Given the description of an element on the screen output the (x, y) to click on. 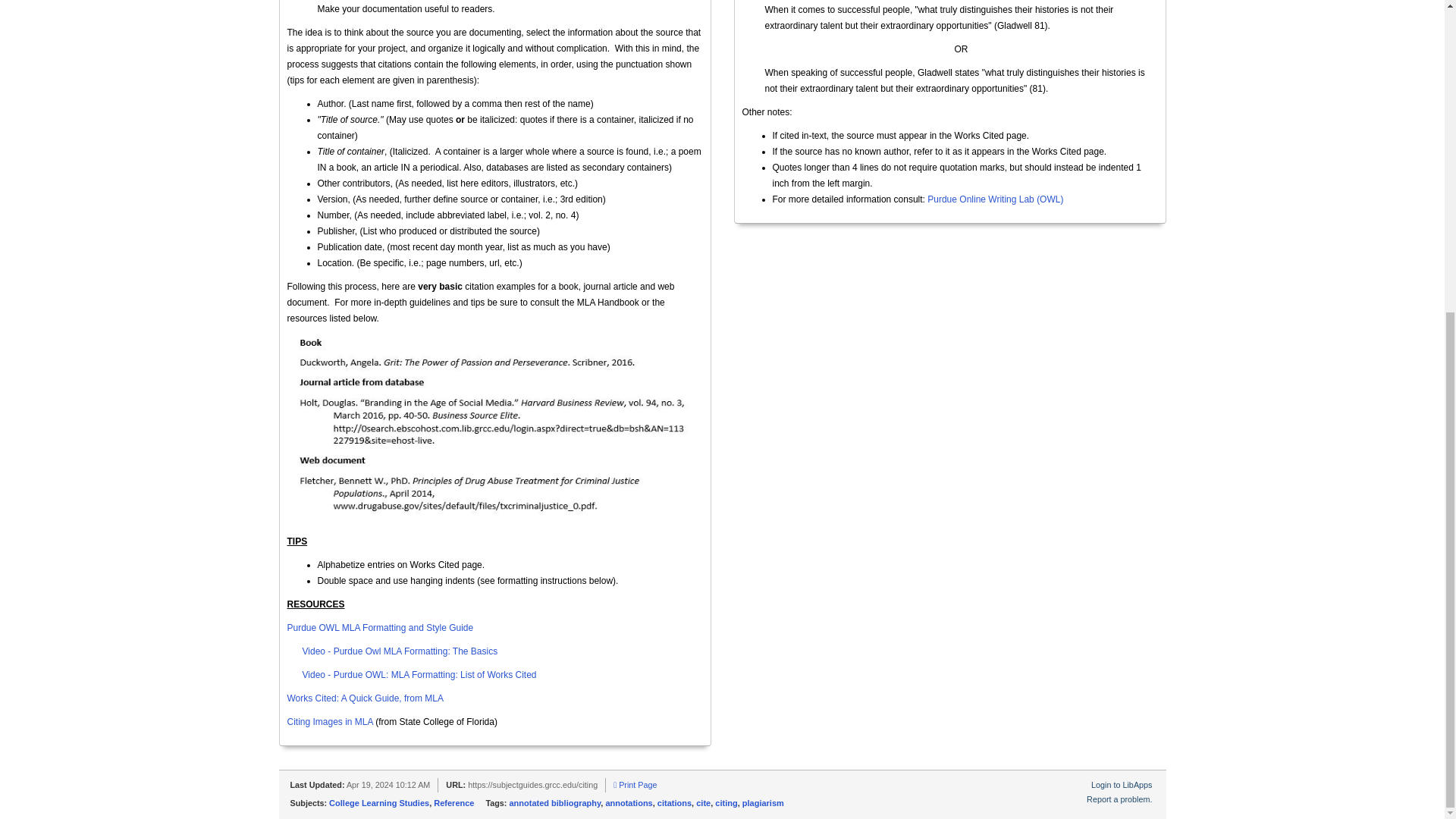
Login to LibApps (1120, 784)
Report a problem. (1118, 798)
cite (702, 802)
citing (725, 802)
Citing Images in MLA (329, 721)
Print Page (634, 784)
plagiarism (763, 802)
annotations (628, 802)
Video - Purdue Owl MLA Formatting: The Basics (399, 651)
annotated bibliography (553, 802)
